Given the description of an element on the screen output the (x, y) to click on. 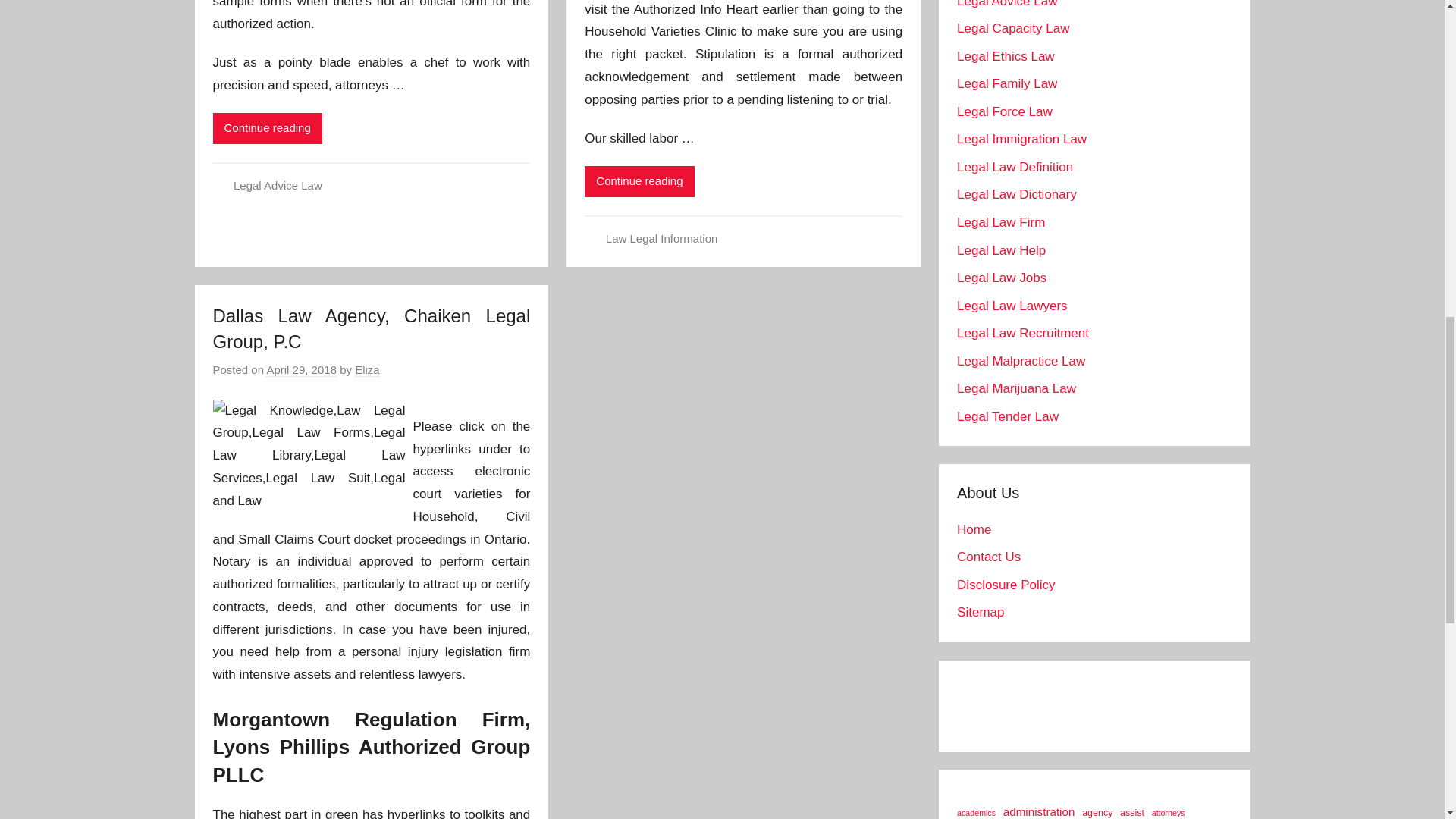
Continue reading (639, 181)
Dallas Law Agency, Chaiken Legal Group, P.C (370, 328)
April 29, 2018 (301, 369)
Continue reading (266, 128)
Legal Advice Law (276, 185)
Eliza (367, 369)
View all posts by Eliza (367, 369)
Law Legal Information (661, 237)
